Given the description of an element on the screen output the (x, y) to click on. 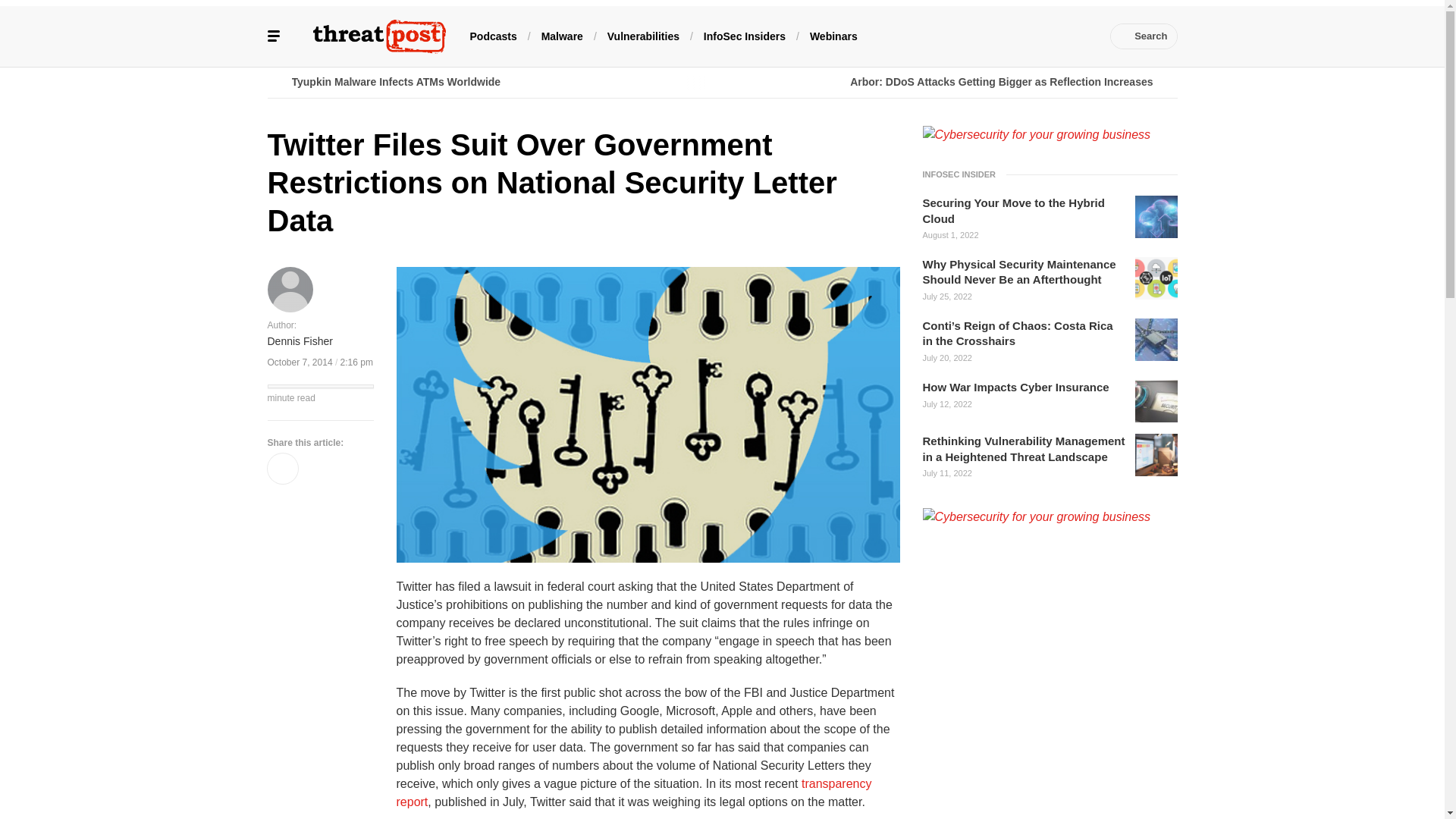
Tyupkin Malware Infects ATMs Worldwide (494, 82)
Securing Your Move to the Hybrid Cloud (1023, 210)
Podcasts (493, 35)
Threatpost (379, 36)
transparency report (633, 792)
Instagram (1057, 36)
Webinars (833, 35)
Dennis Fisher (298, 342)
Twitter (966, 36)
Search (1143, 36)
Feedly (1034, 36)
Facebook (944, 36)
LinkedIn (989, 36)
RSS (1080, 36)
